Given the description of an element on the screen output the (x, y) to click on. 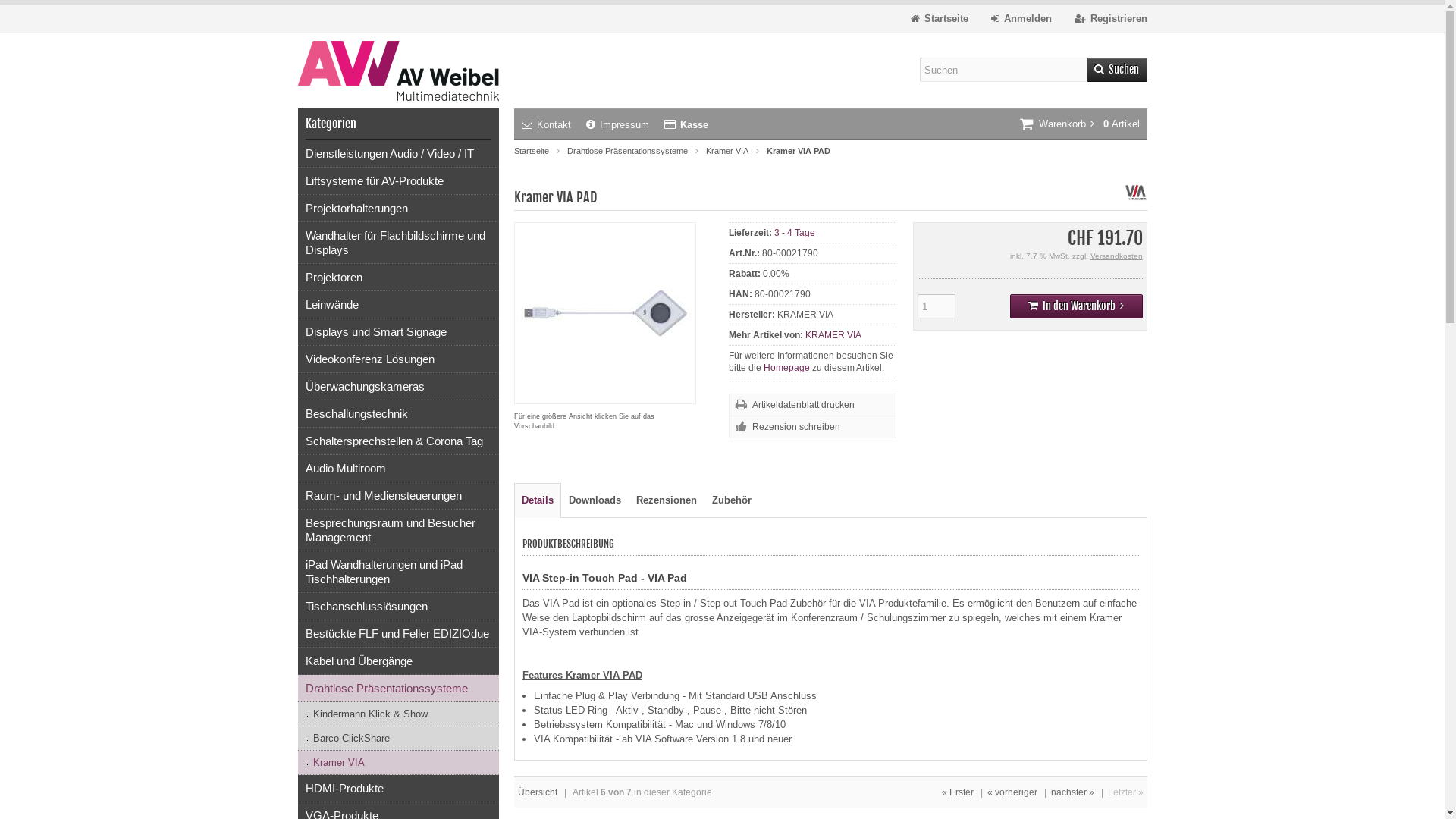
Kramer VIA Element type: text (397, 762)
Rezension schreiben Element type: text (811, 427)
Homepage Element type: text (786, 367)
Projektorhalterungen Element type: text (397, 208)
Kramer VIA Element type: text (726, 150)
Impressum Element type: text (616, 124)
Anmelden Element type: text (1020, 18)
3 - 4 Tage Element type: text (794, 232)
Schaltersprechstellen & Corona Tag Element type: text (397, 441)
Besprechungsraum und Besucher Management Element type: text (397, 530)
KRAMER VIA Element type: hover (1134, 200)
Barco ClickShare Element type: text (397, 738)
Startseite Element type: text (531, 150)
Projektoren Element type: text (397, 277)
Dienstleistungen Audio / Video / IT Element type: text (397, 153)
Kasse Element type: text (686, 124)
Kontakt Element type: text (546, 124)
Versandkosten Element type: text (1116, 255)
Displays und Smart Signage Element type: text (397, 331)
Kramer VIA PAD Element type: hover (604, 395)
Artikeldatenblatt drucken Element type: text (811, 405)
iPad Wandhalterungen und iPad Tischhalterungen Element type: text (397, 572)
Beschallungstechnik Element type: text (397, 413)
Startseite Element type: text (938, 18)
Registrieren Element type: text (1109, 18)
Audio Multiroom Element type: text (397, 468)
KRAMER VIA Element type: text (833, 334)
Raum- und Mediensteuerungen Element type: text (397, 495)
HDMI-Produkte Element type: text (397, 788)
Kindermann Klick & Show Element type: text (397, 714)
